Given the description of an element on the screen output the (x, y) to click on. 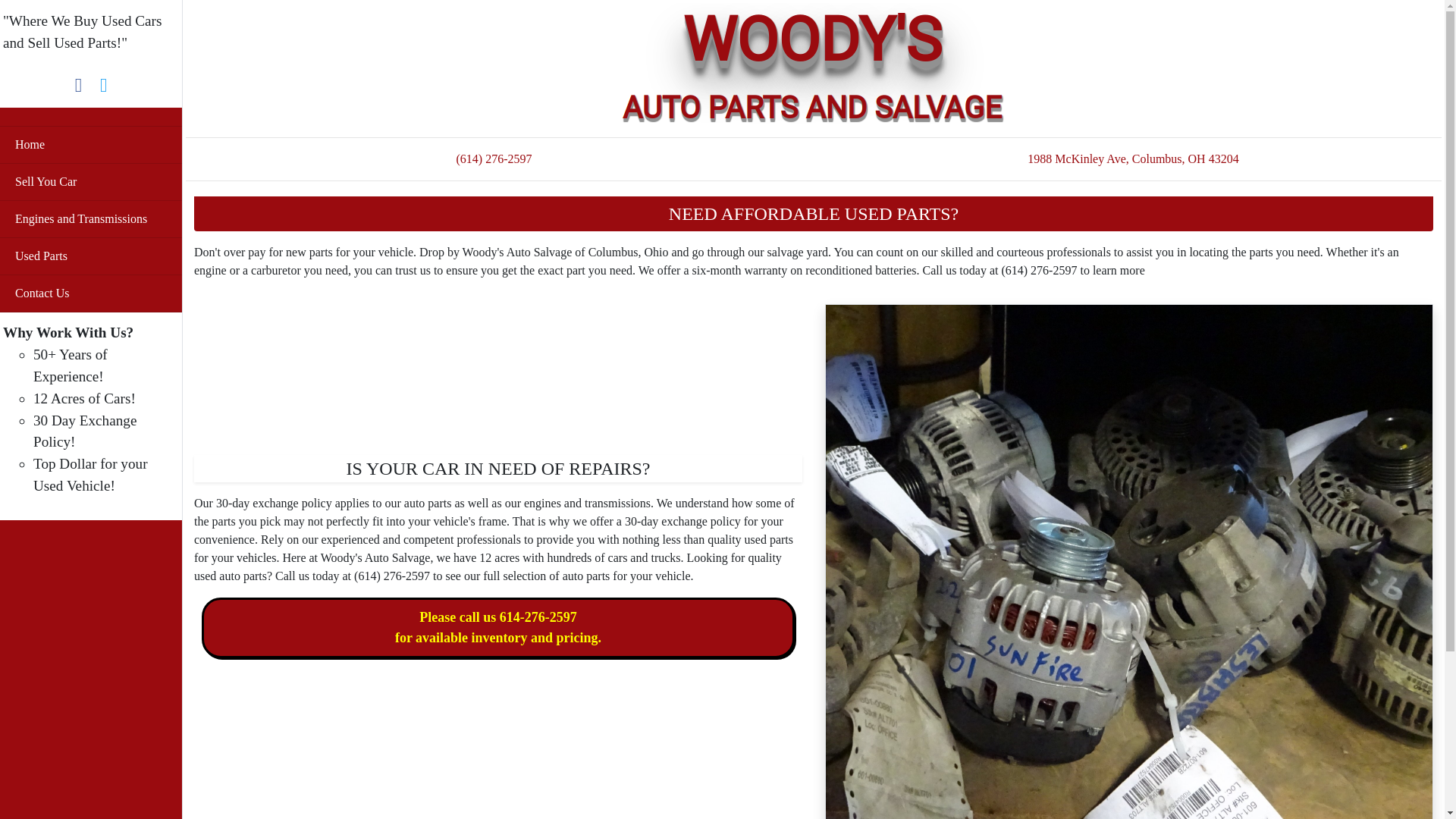
Used Parts (91, 256)
1988 McKinley Ave, Columbus, OH 43204 (1133, 158)
Home (91, 144)
Engines and Transmissions (91, 218)
Sell You Car (91, 181)
Contact Us (91, 293)
